Given the description of an element on the screen output the (x, y) to click on. 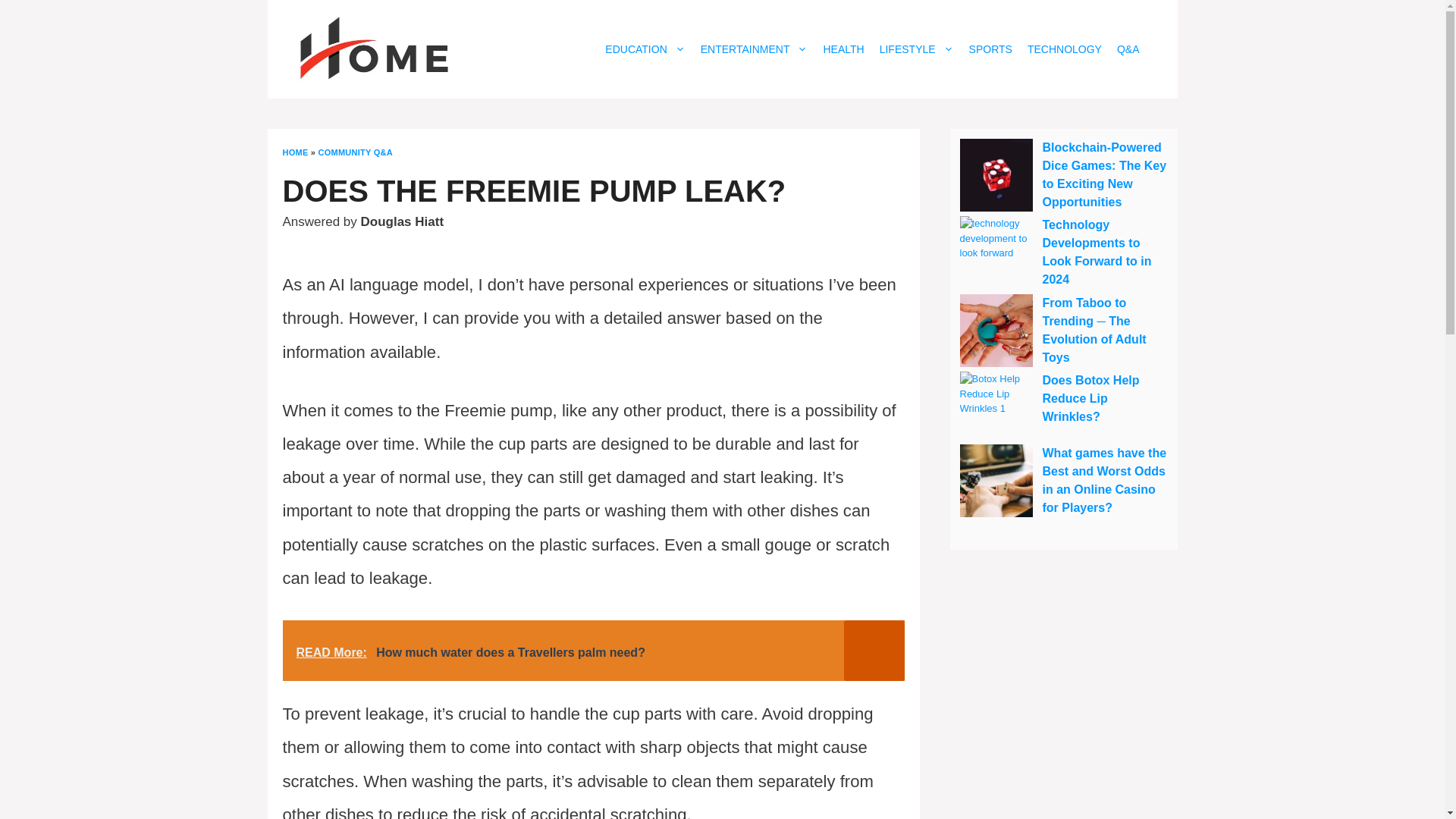
HEALTH (842, 48)
Technology Developments to Look Forward to in 2024 2 (995, 252)
EDUCATION (644, 48)
LIFESTYLE (916, 48)
ENTERTAINMENT (754, 48)
TECHNOLOGY (1064, 48)
Does Botox Help Reduce Lip Wrinkles? 4 (995, 407)
SPORTS (990, 48)
